Given the description of an element on the screen output the (x, y) to click on. 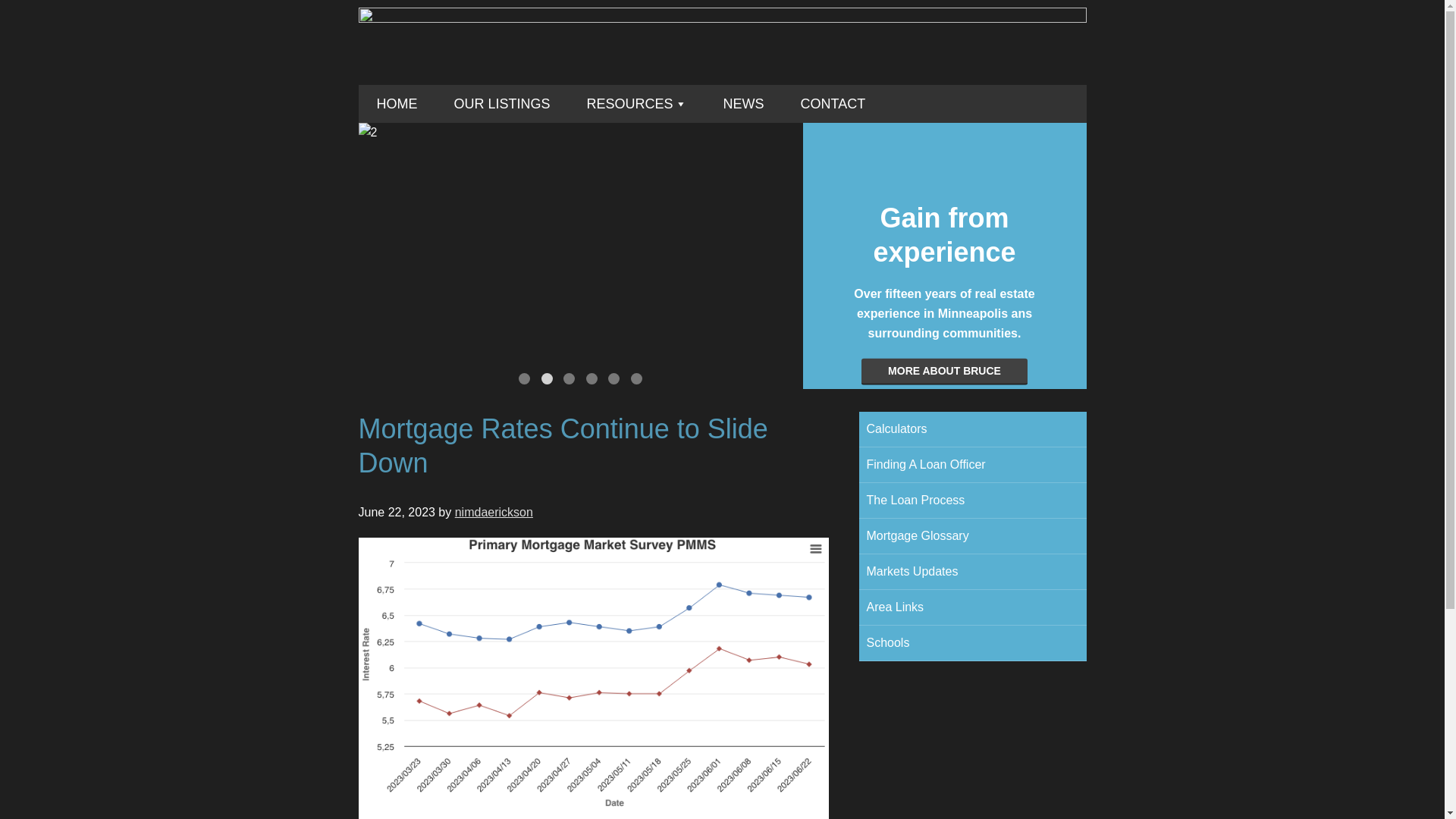
OUR LISTINGS (501, 103)
nimdaerickson (493, 512)
Area Links (972, 606)
Finding A Loan Officer (972, 464)
RESOURCES (636, 103)
NEWS (743, 103)
Markets Updates (972, 571)
CONTACT (833, 103)
Calculators (972, 428)
MORE ABOUT BRUCE (944, 371)
